Given the description of an element on the screen output the (x, y) to click on. 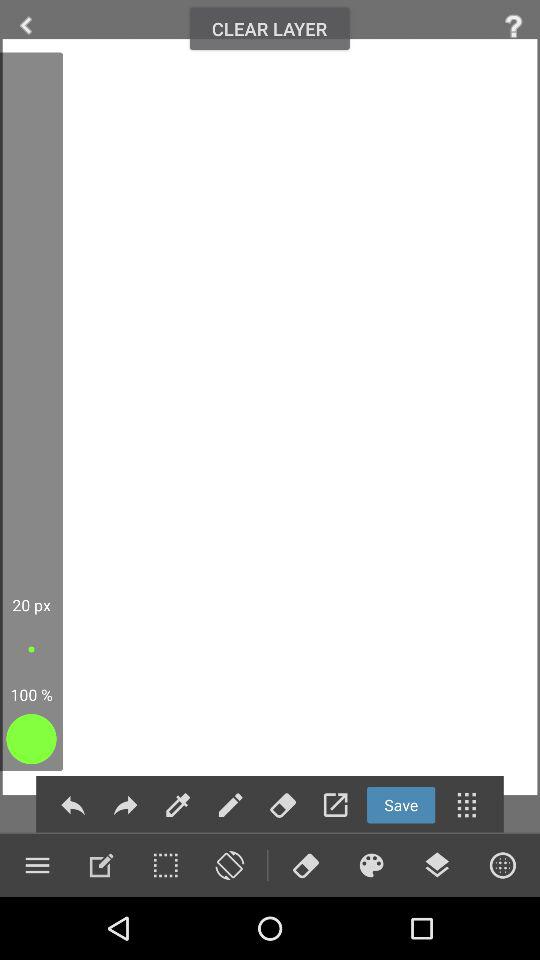
writting pencil option (230, 804)
